Given the description of an element on the screen output the (x, y) to click on. 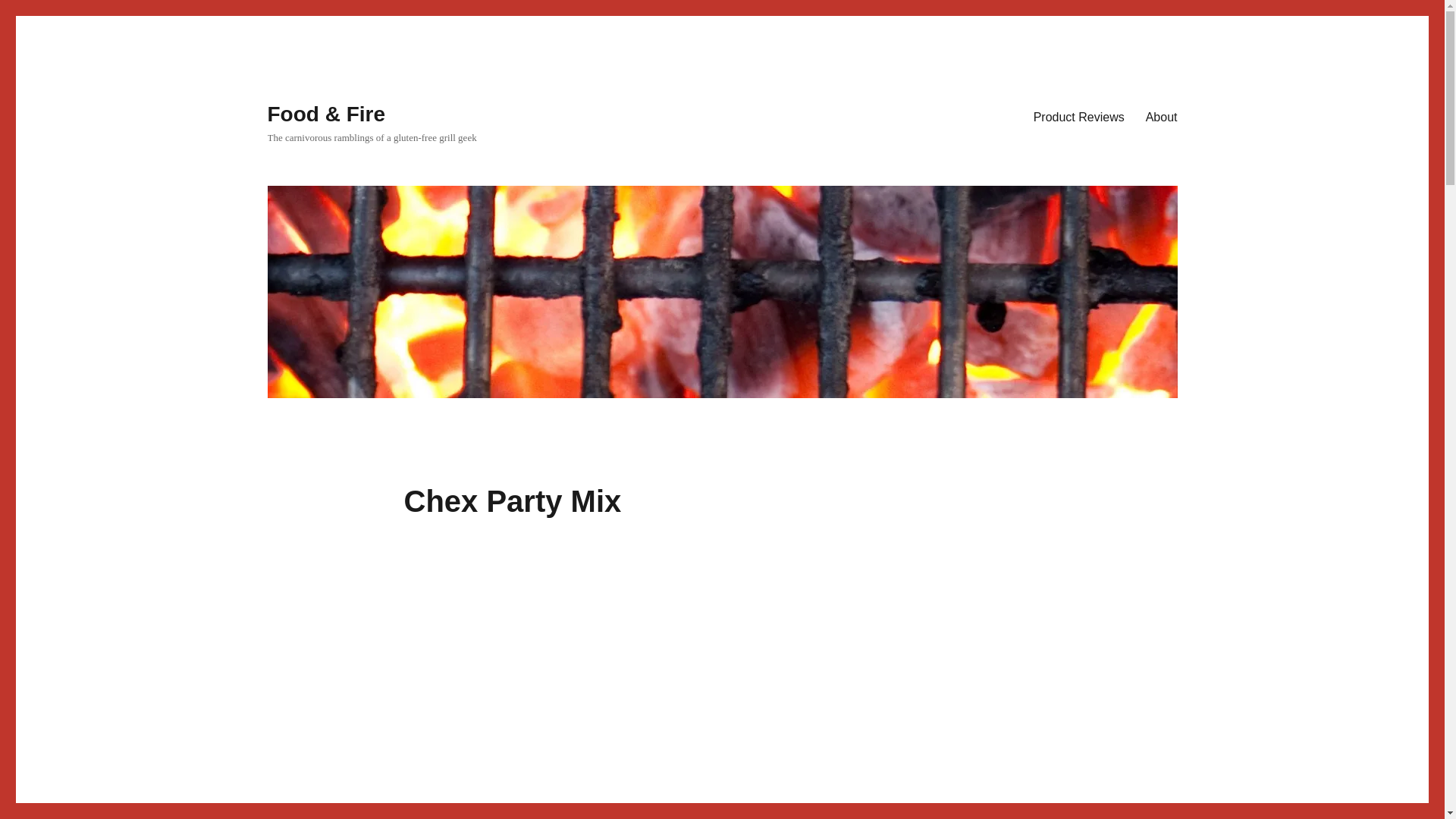
Product Reviews (1079, 116)
About (1161, 116)
